Given the description of an element on the screen output the (x, y) to click on. 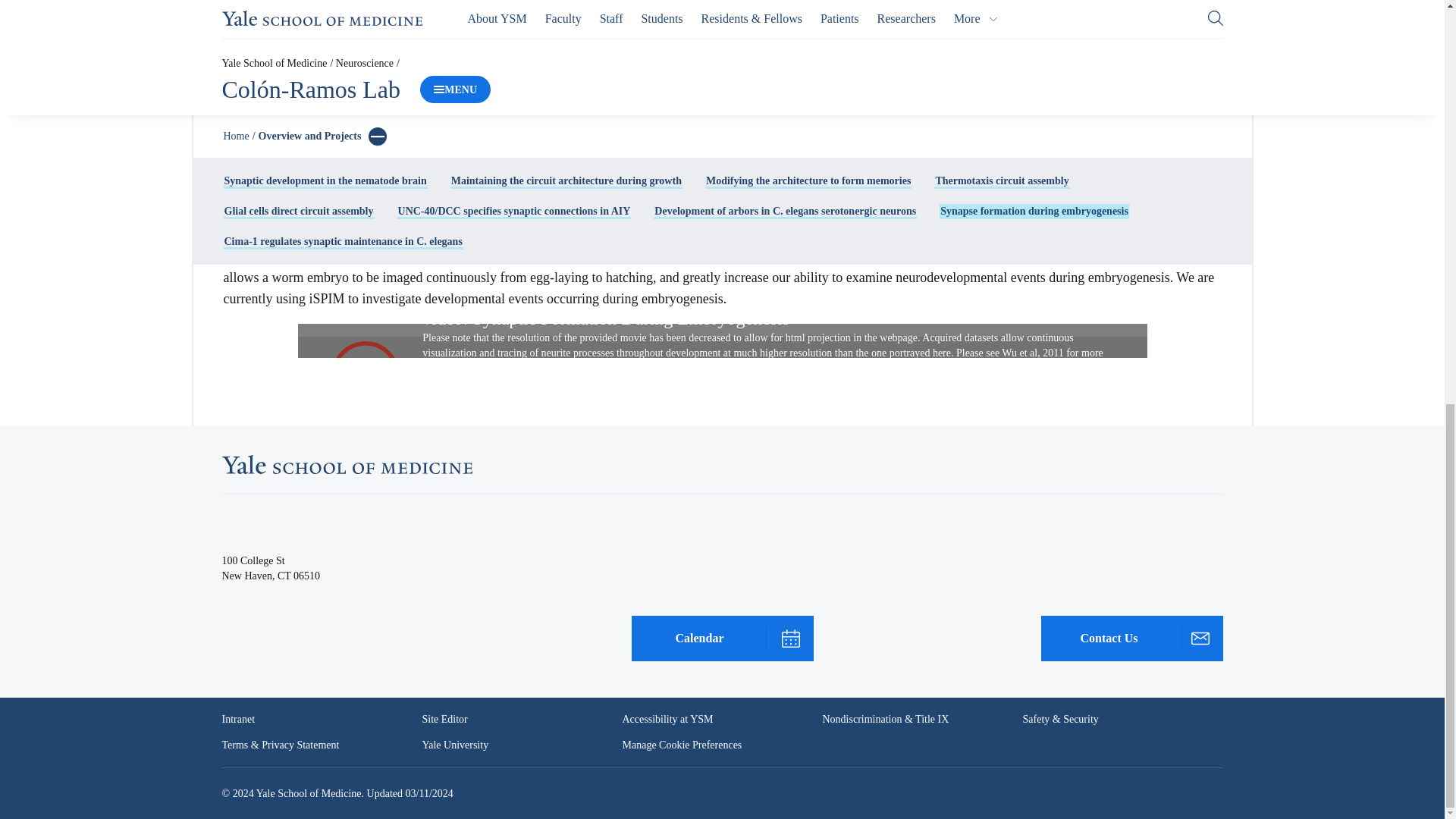
Yale School of Medicine (346, 464)
